Given the description of an element on the screen output the (x, y) to click on. 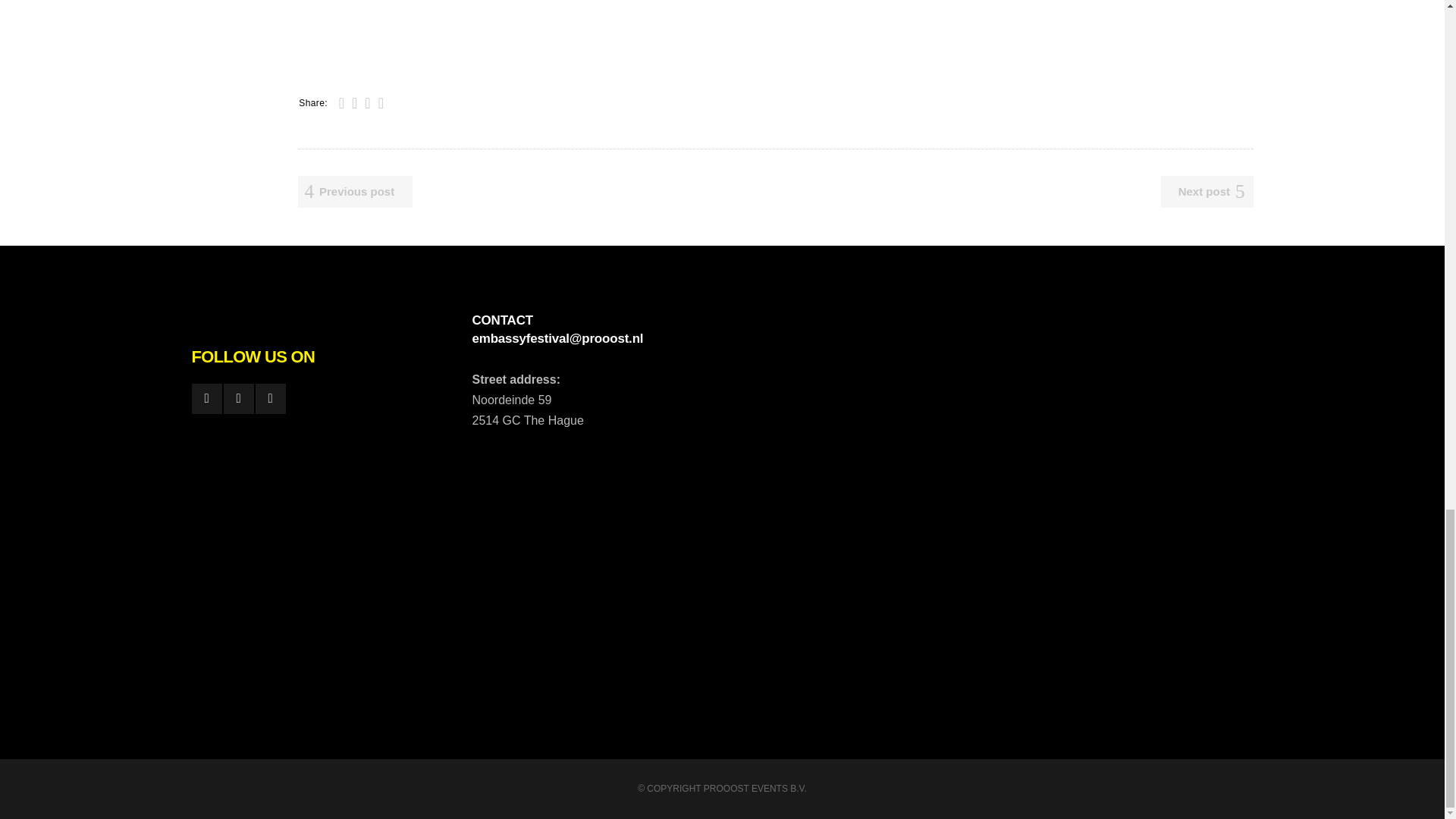
Previous post (354, 192)
Next post (1206, 192)
LOGO-VLAG-CYPRUS (410, 29)
